Given the description of an element on the screen output the (x, y) to click on. 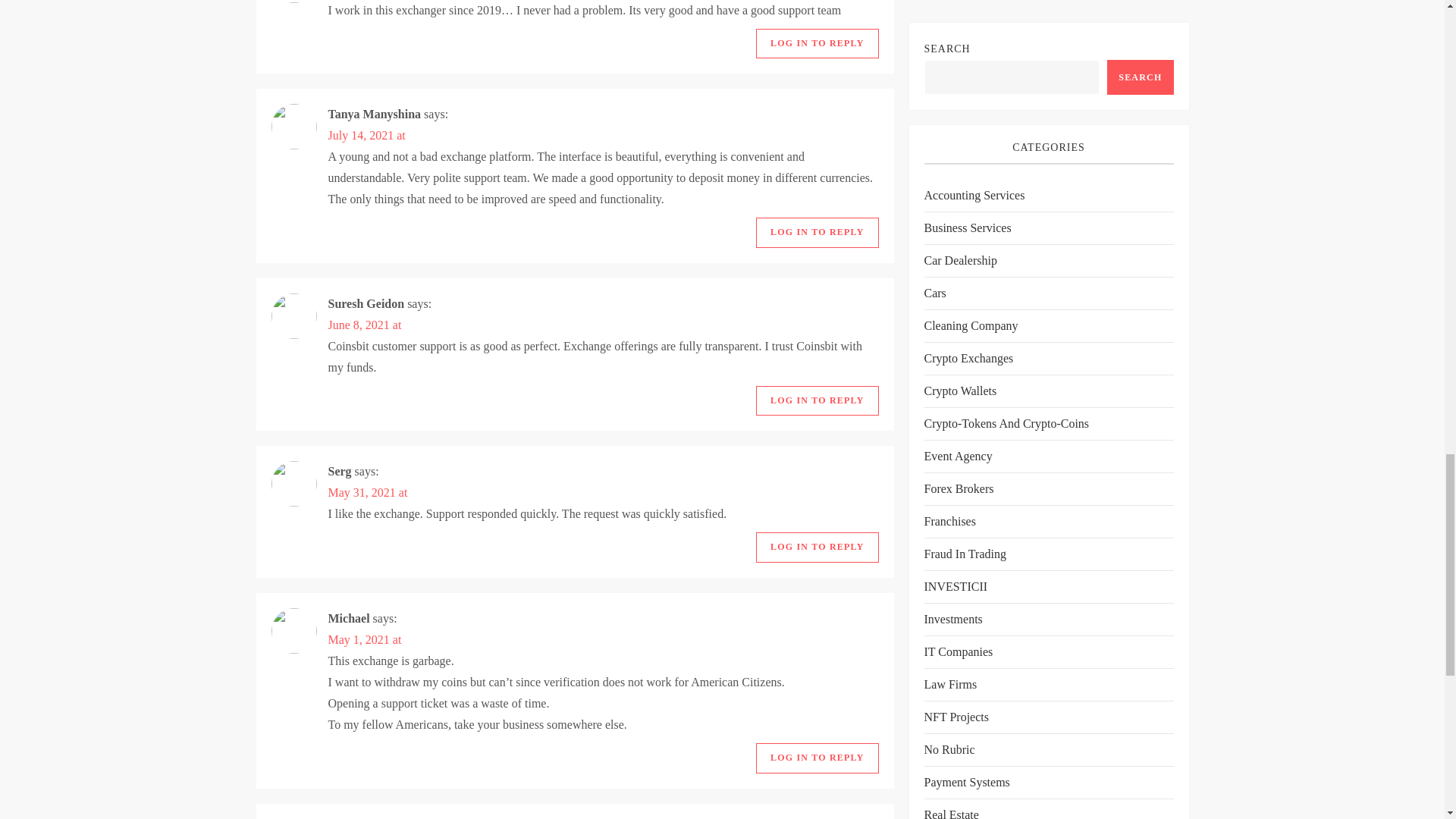
May 1, 2021 at (364, 639)
LOG IN TO REPLY (816, 757)
May 31, 2021 at (367, 492)
LOG IN TO REPLY (816, 232)
LOG IN TO REPLY (816, 547)
June 8, 2021 at (364, 324)
LOG IN TO REPLY (816, 43)
LOG IN TO REPLY (816, 400)
July 14, 2021 at (365, 134)
